Given the description of an element on the screen output the (x, y) to click on. 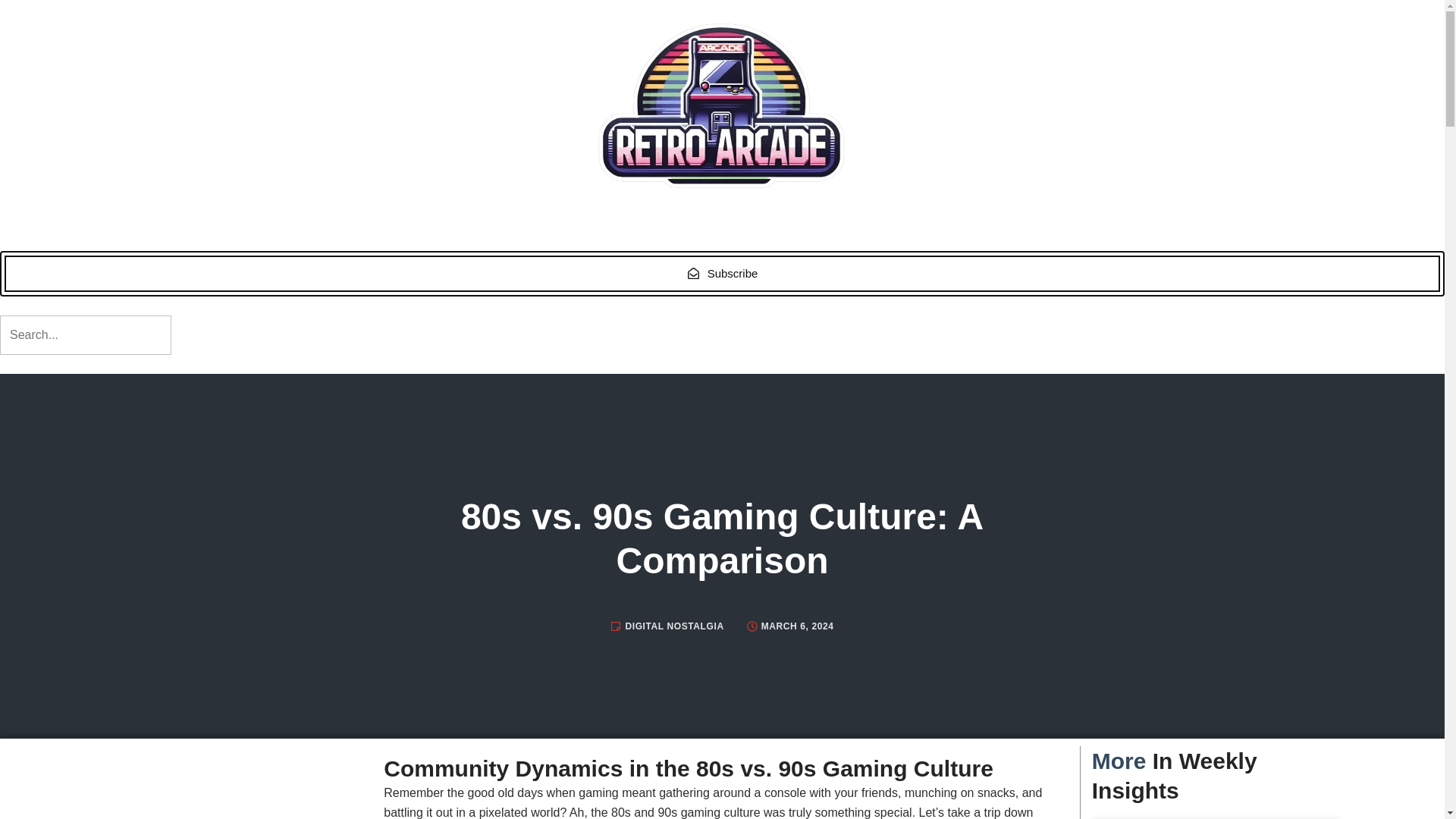
Search (85, 334)
